Given the description of an element on the screen output the (x, y) to click on. 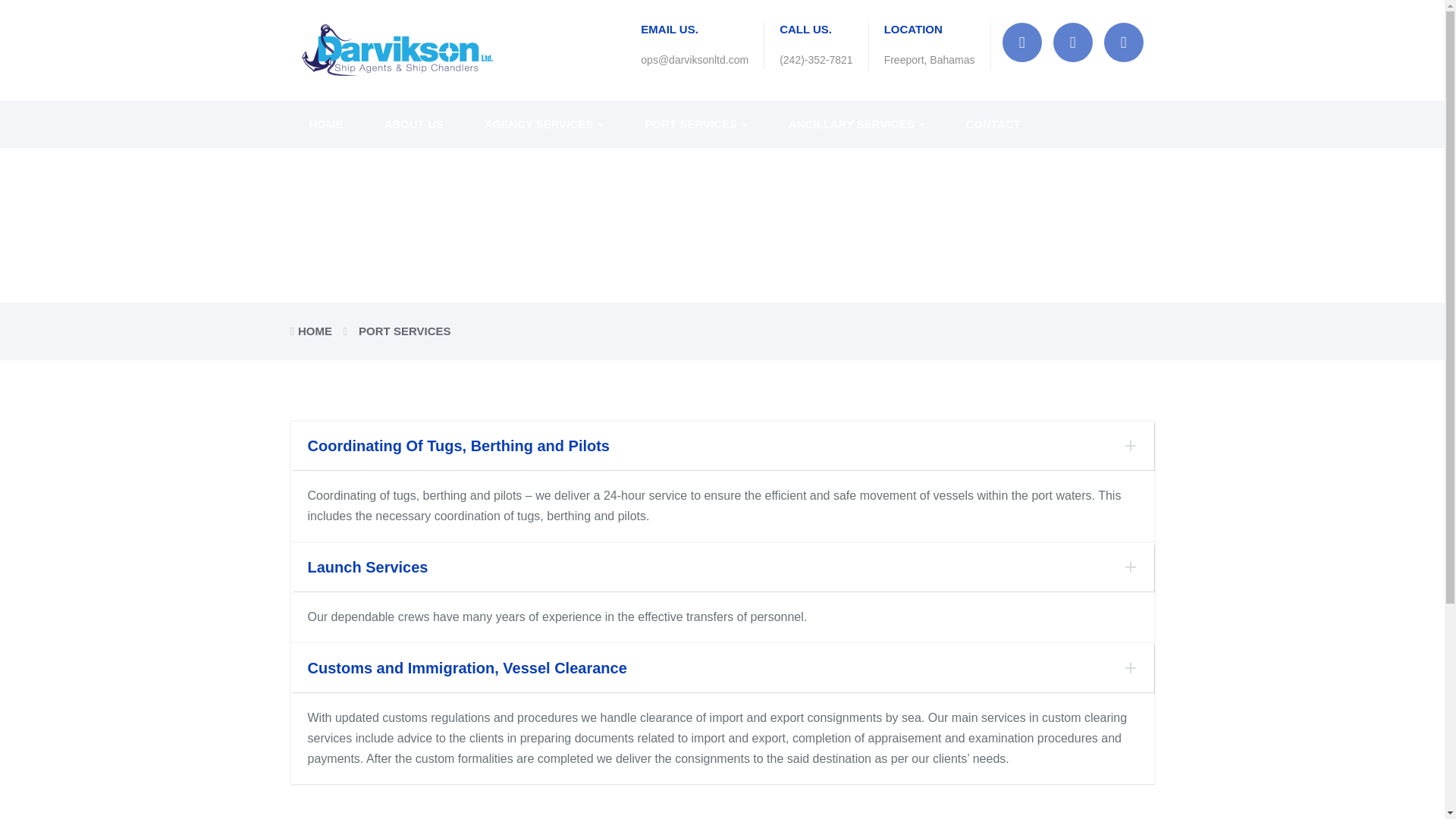
About Us (413, 124)
Ancillary Services (856, 124)
HOME (314, 330)
Customs and Immigration, Vessel Clearance (722, 667)
PORT SERVICES (696, 124)
Agency Services (544, 124)
AGENCY SERVICES (544, 124)
CONTACT (983, 124)
ABOUT US (413, 124)
Port Services (696, 124)
Home (325, 124)
Coordinating Of Tugs, Berthing and Pilots (722, 445)
Launch Services (722, 566)
ANCILLARY SERVICES (856, 124)
HOME (325, 124)
